Given the description of an element on the screen output the (x, y) to click on. 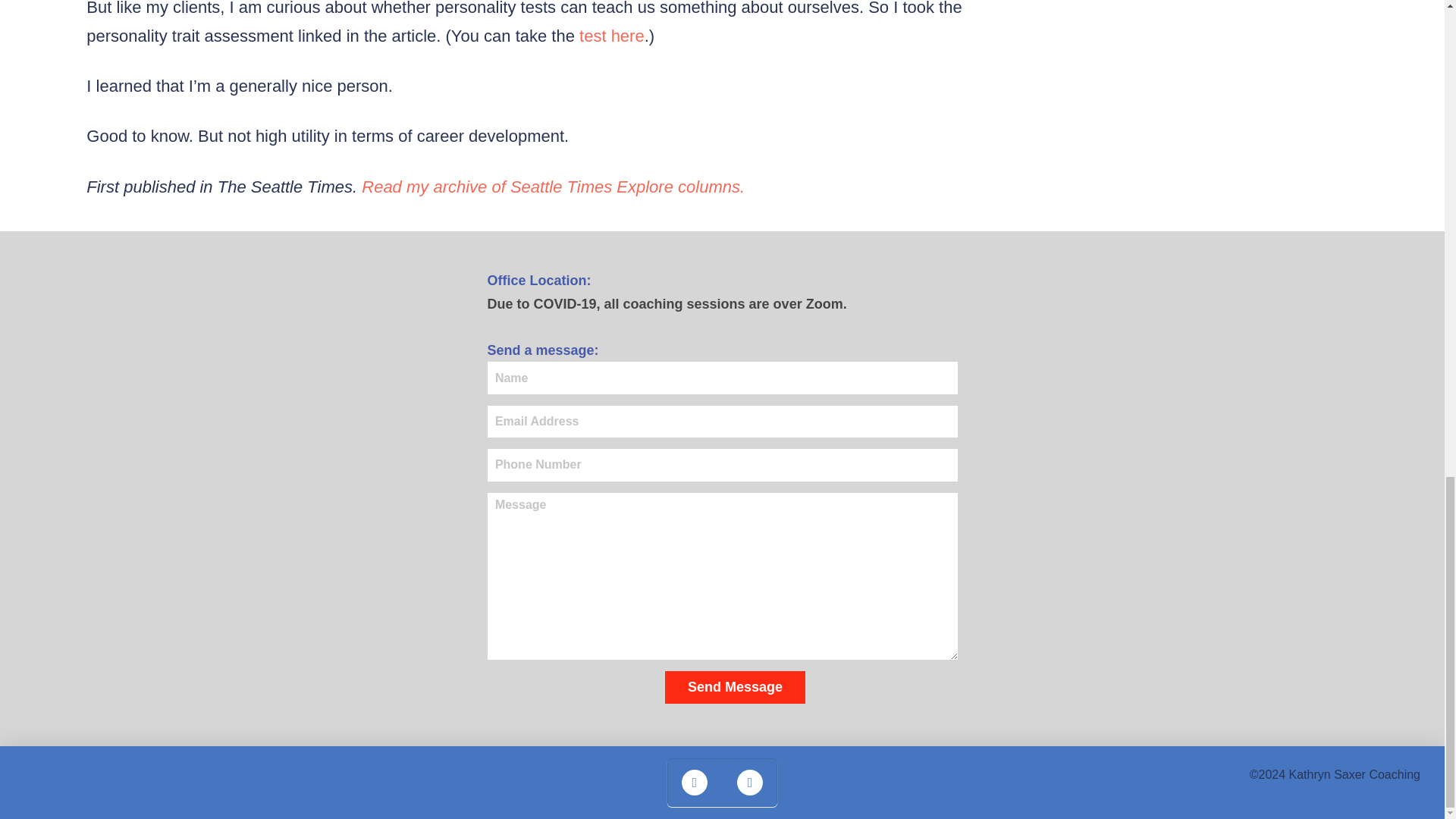
Send Message (735, 686)
test here (612, 35)
linkedin (749, 780)
Facebook (694, 780)
Read my archive of Seattle Times Explore columns. (552, 186)
Send Message (735, 686)
facebook (694, 780)
Default Label (749, 780)
